Given the description of an element on the screen output the (x, y) to click on. 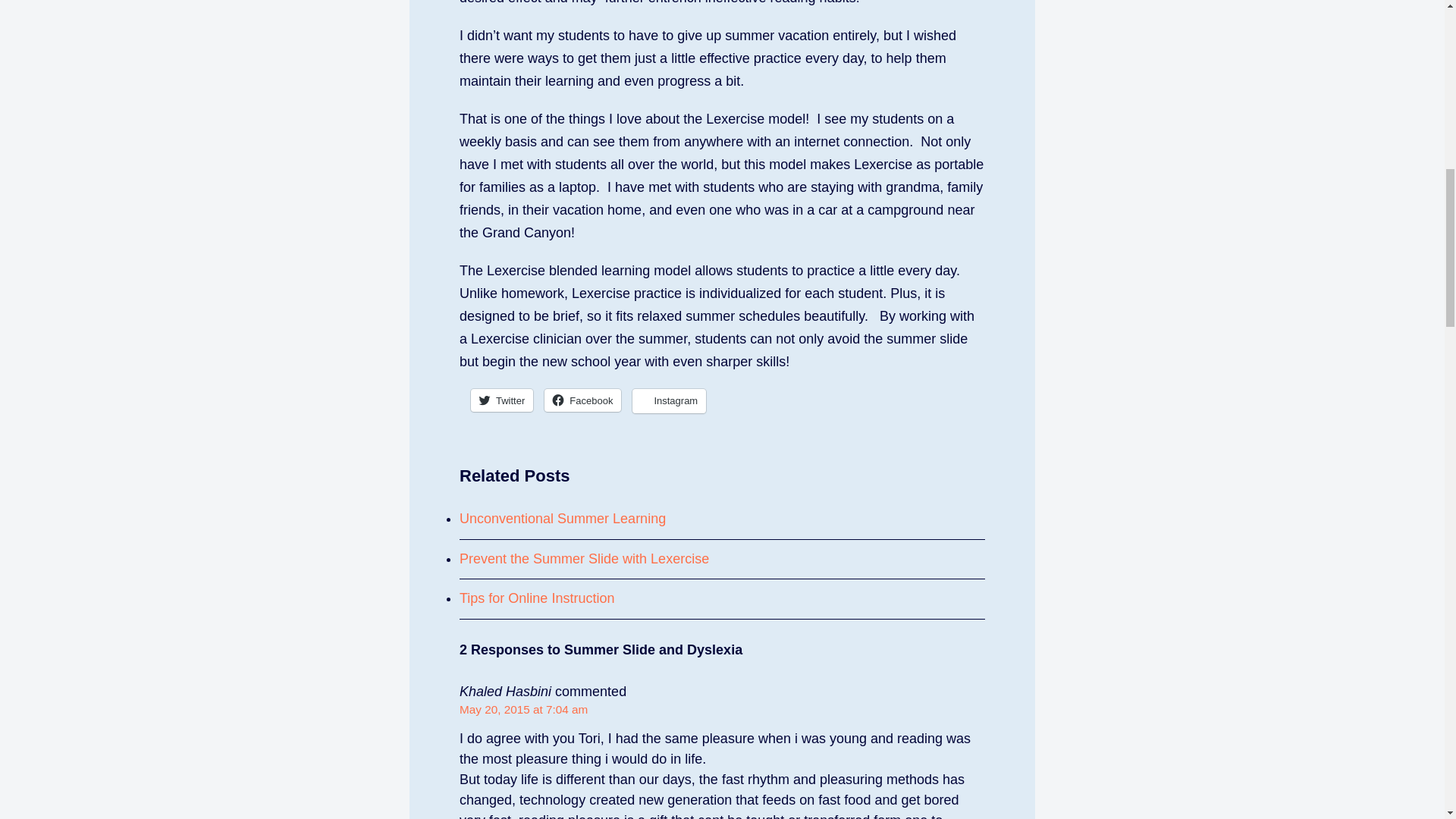
Click to share on Twitter (501, 400)
Click to share on Instagram (668, 401)
Click to share on Facebook (582, 400)
